Given the description of an element on the screen output the (x, y) to click on. 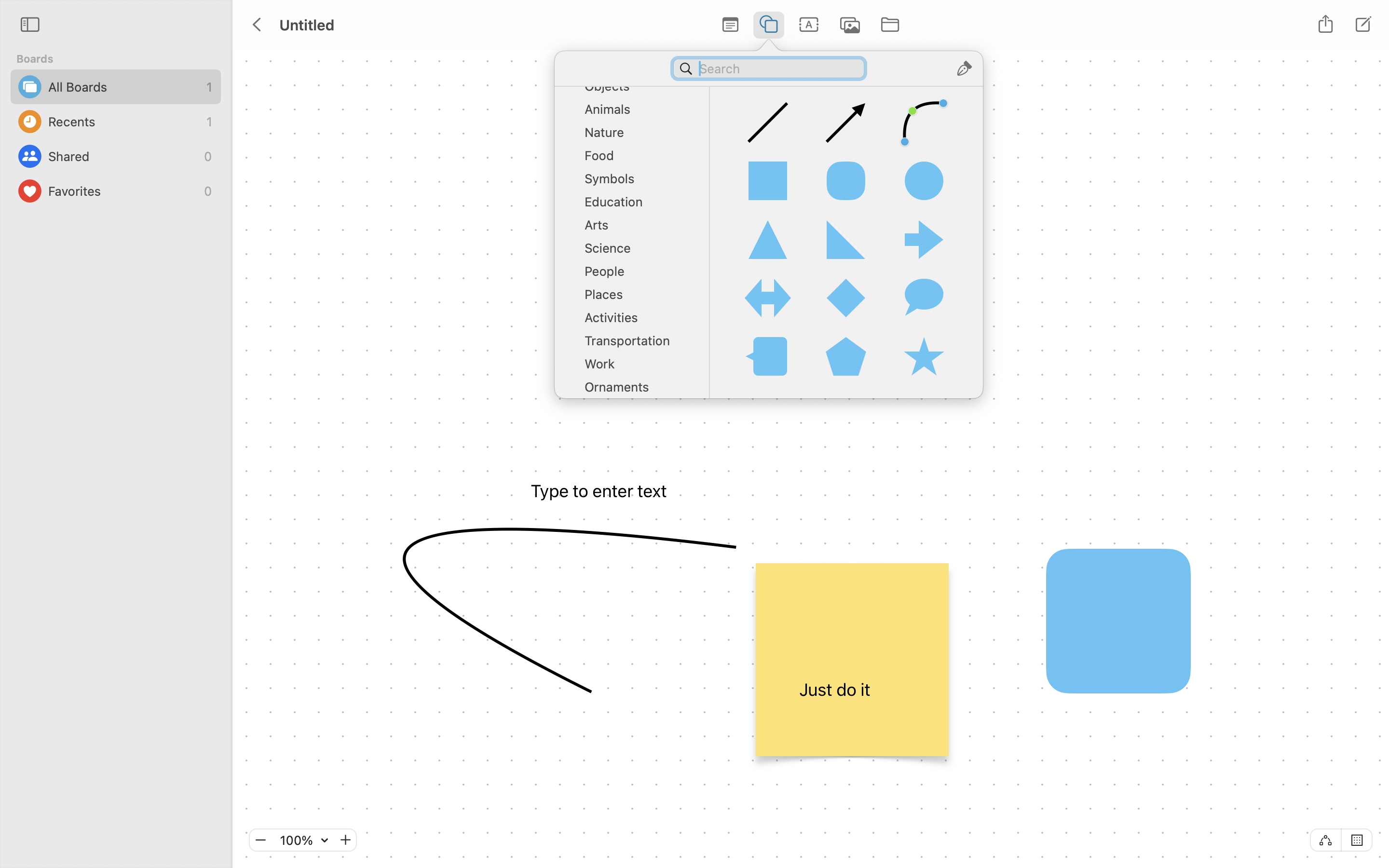
Places Element type: AXStaticText (636, 297)
Activities Element type: AXStaticText (636, 320)
Ornaments Element type: AXStaticText (636, 390)
Education Element type: AXStaticText (636, 205)
